Given the description of an element on the screen output the (x, y) to click on. 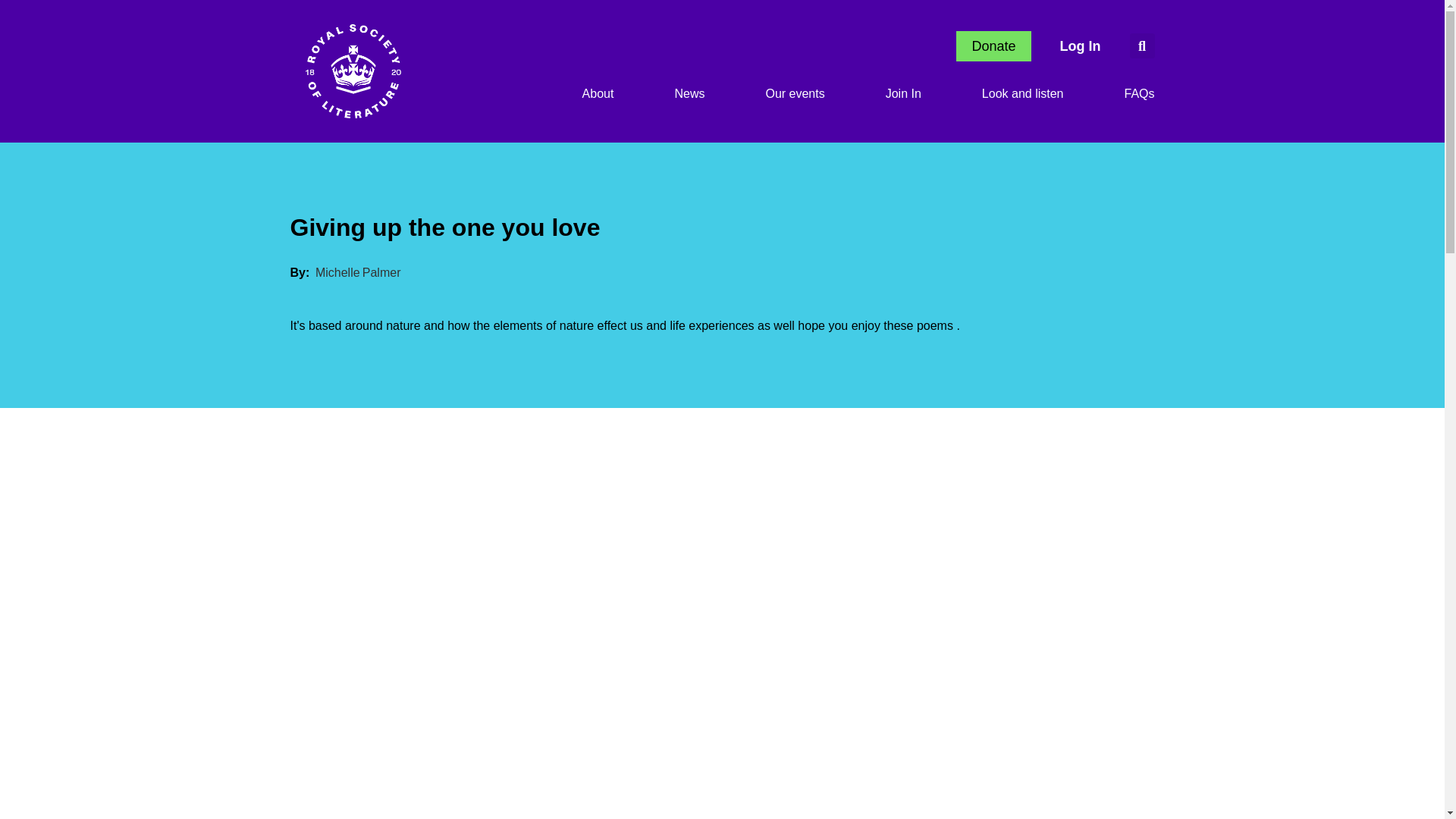
About (598, 93)
Our events (794, 93)
Join In (903, 93)
Donate (993, 46)
Log In (1080, 45)
Look and listen (1022, 93)
